Given the description of an element on the screen output the (x, y) to click on. 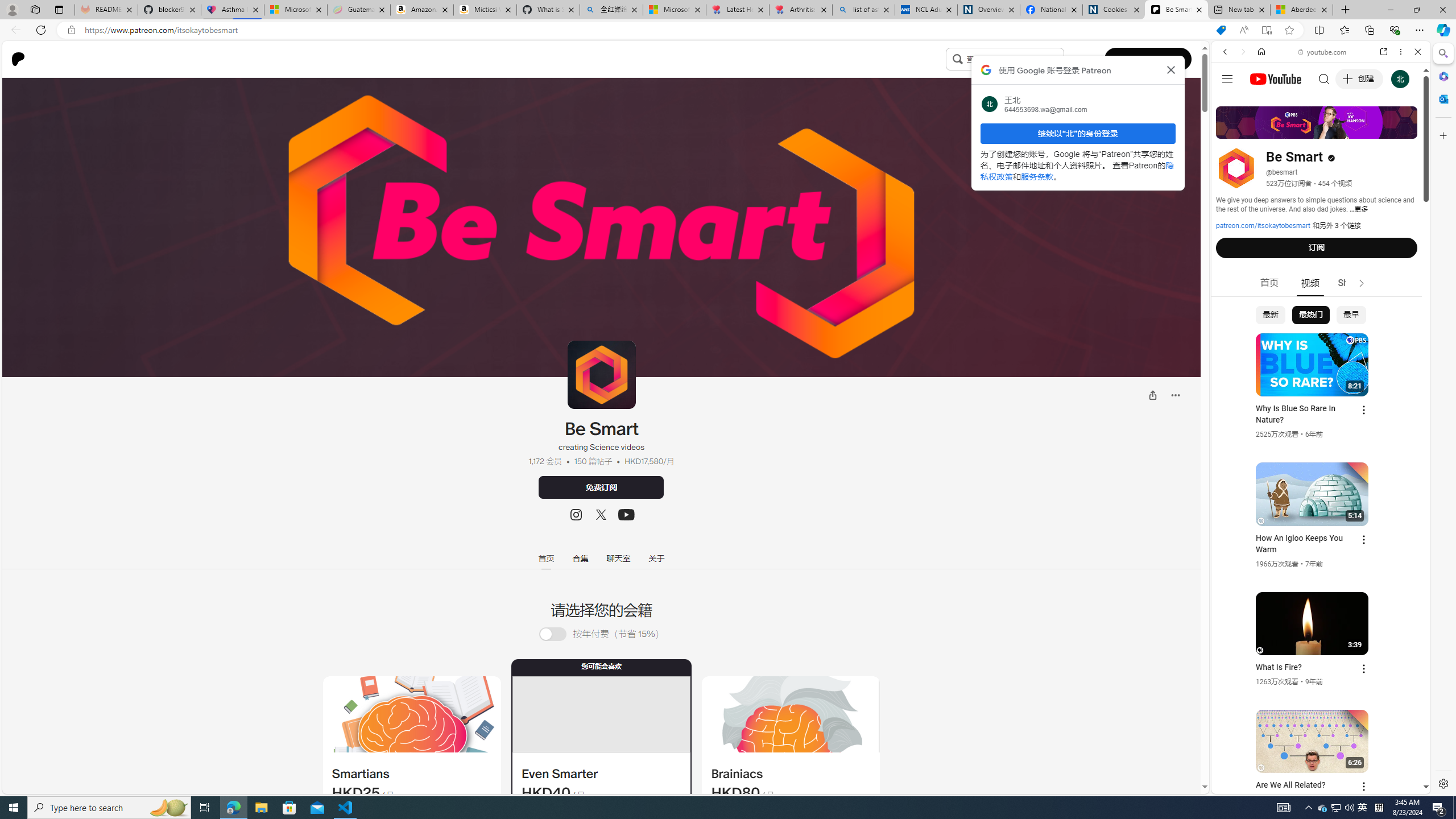
#you (1315, 659)
